Given the description of an element on the screen output the (x, y) to click on. 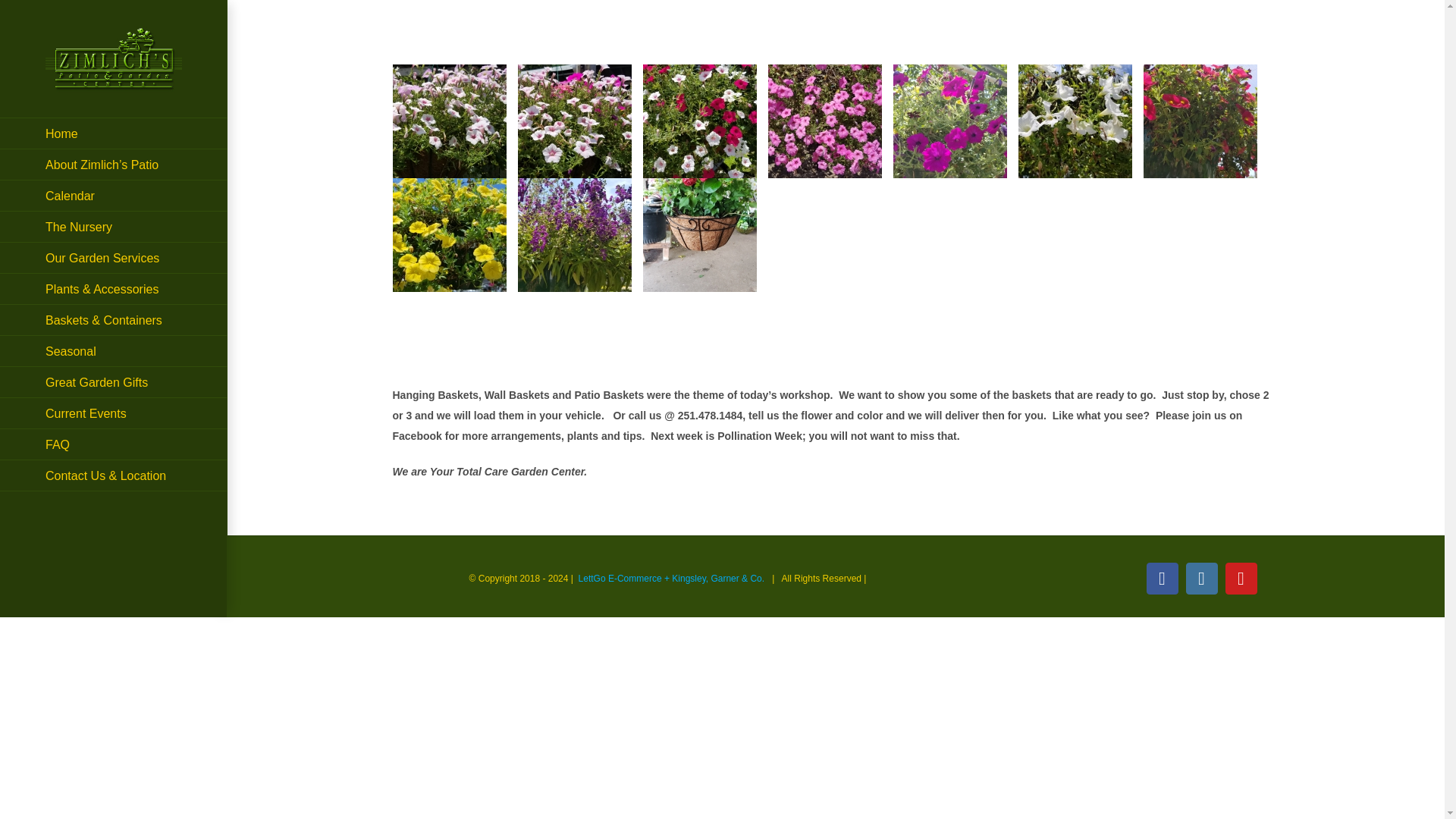
Calendar (113, 195)
YouTube (1241, 578)
Our Garden Services (113, 257)
FAQ (113, 444)
Current Events (113, 413)
The Nursery (113, 226)
Facebook (1162, 578)
Great Garden Gifts (113, 382)
Instagram (1201, 578)
Seasonal (113, 350)
Home (113, 133)
